Given the description of an element on the screen output the (x, y) to click on. 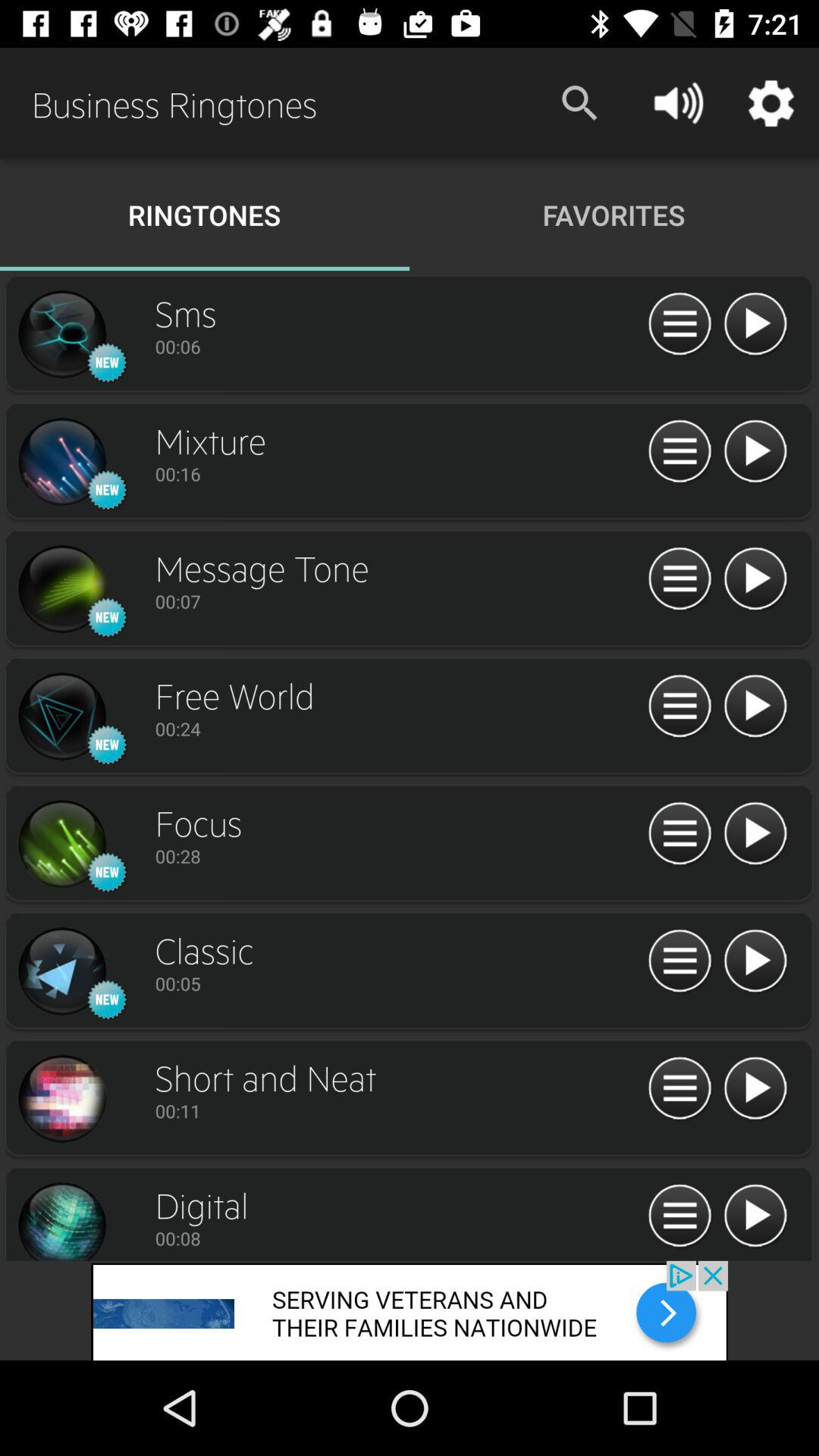
click the digital app (61, 1219)
